Given the description of an element on the screen output the (x, y) to click on. 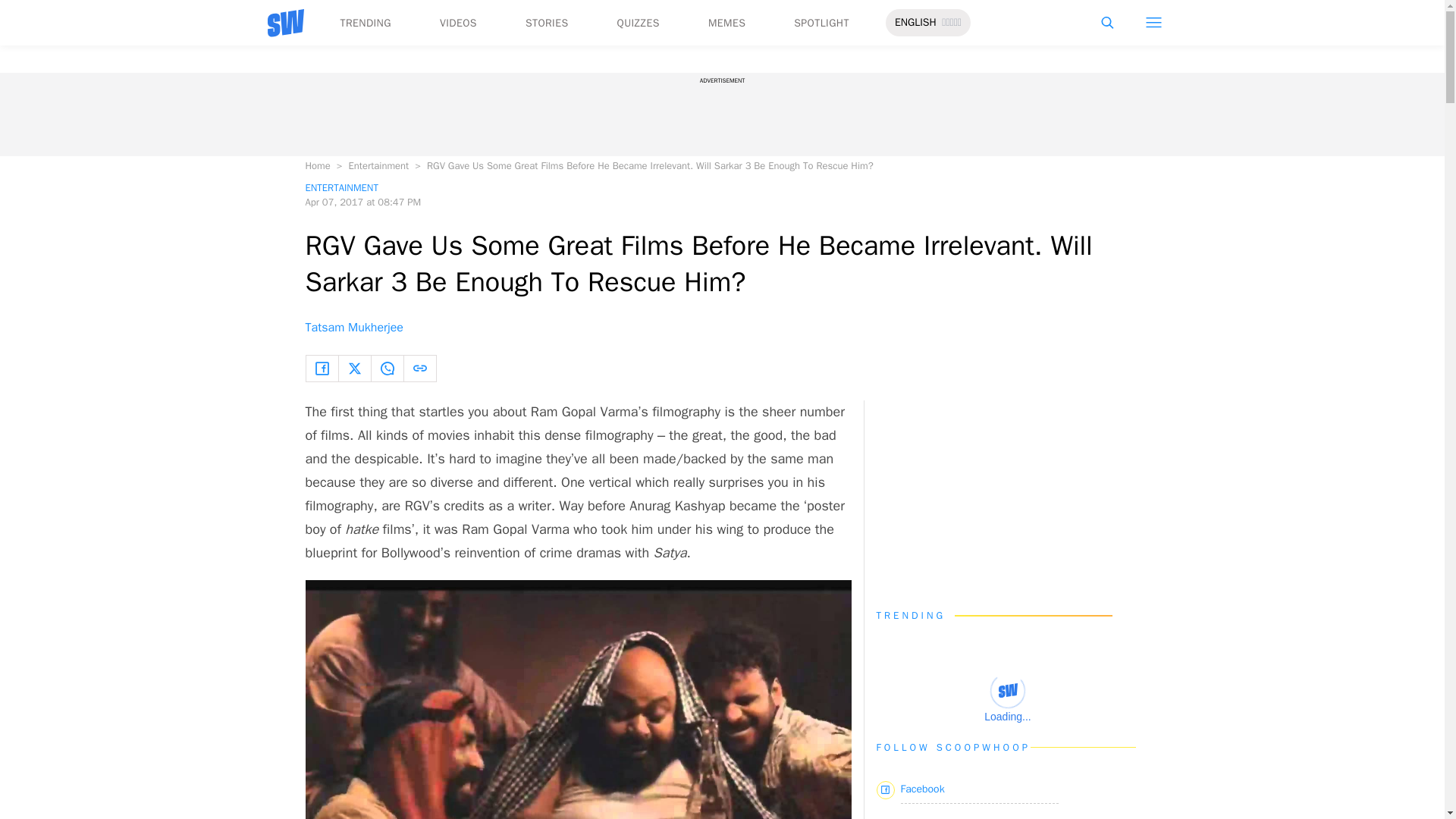
ENGLISH (915, 22)
STORIES (547, 22)
VIDEOS (458, 22)
SPOTLIGHT (820, 22)
TRENDING (364, 22)
MEMES (726, 22)
QUIZZES (638, 22)
